Given the description of an element on the screen output the (x, y) to click on. 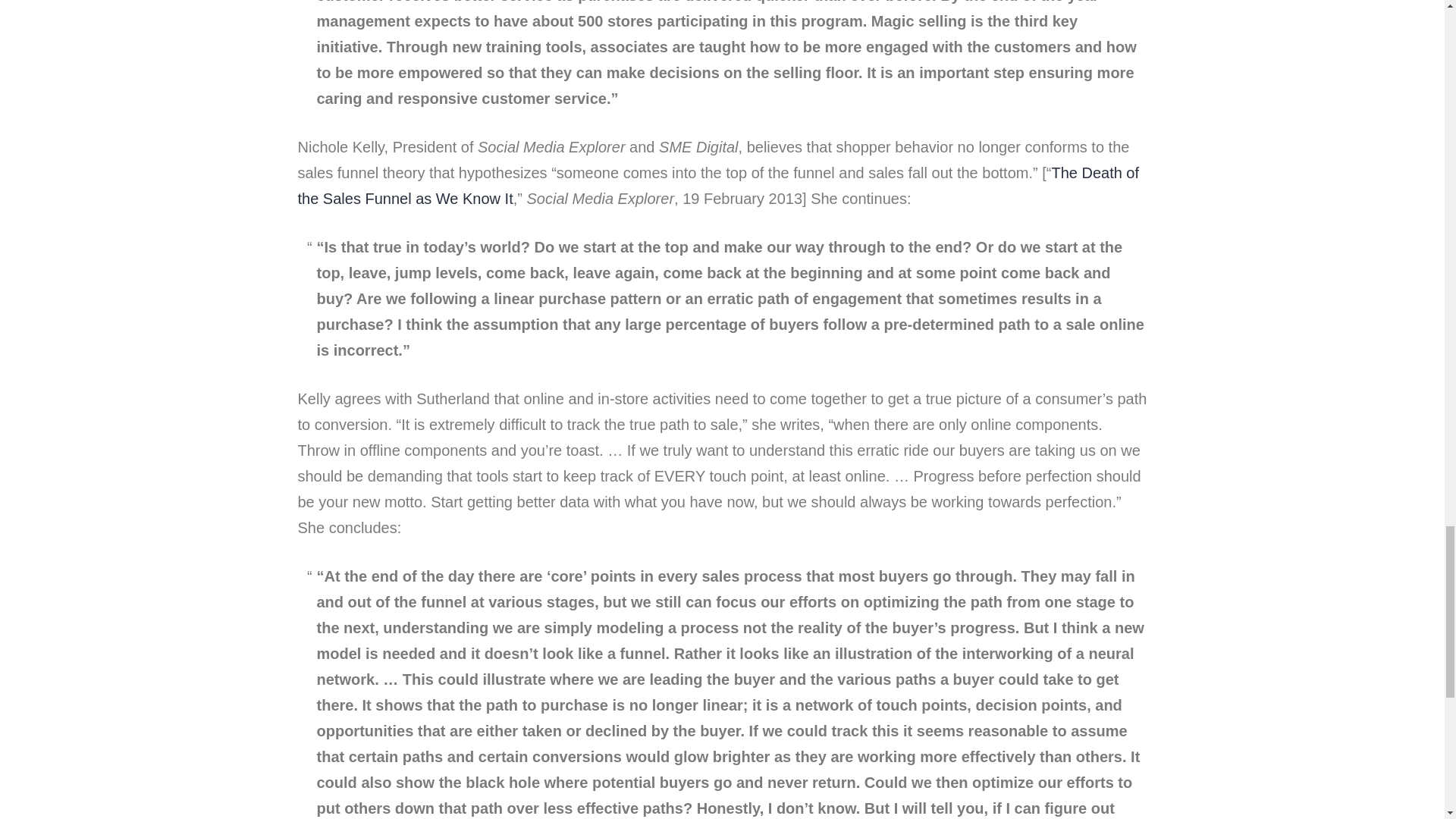
The Death of the Sales Funnel as We Know It (717, 185)
